Given the description of an element on the screen output the (x, y) to click on. 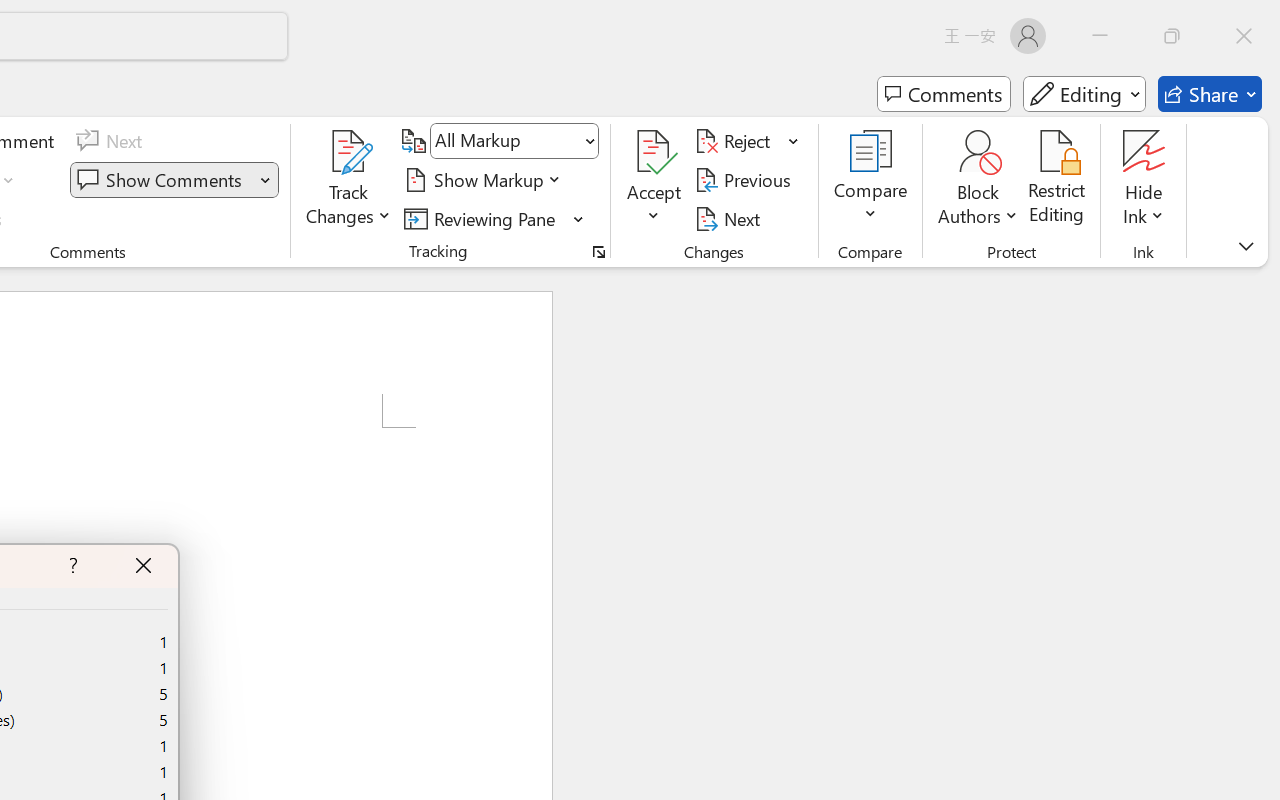
Restrict Editing (1057, 179)
Reviewing Pane (483, 218)
